Given the description of an element on the screen output the (x, y) to click on. 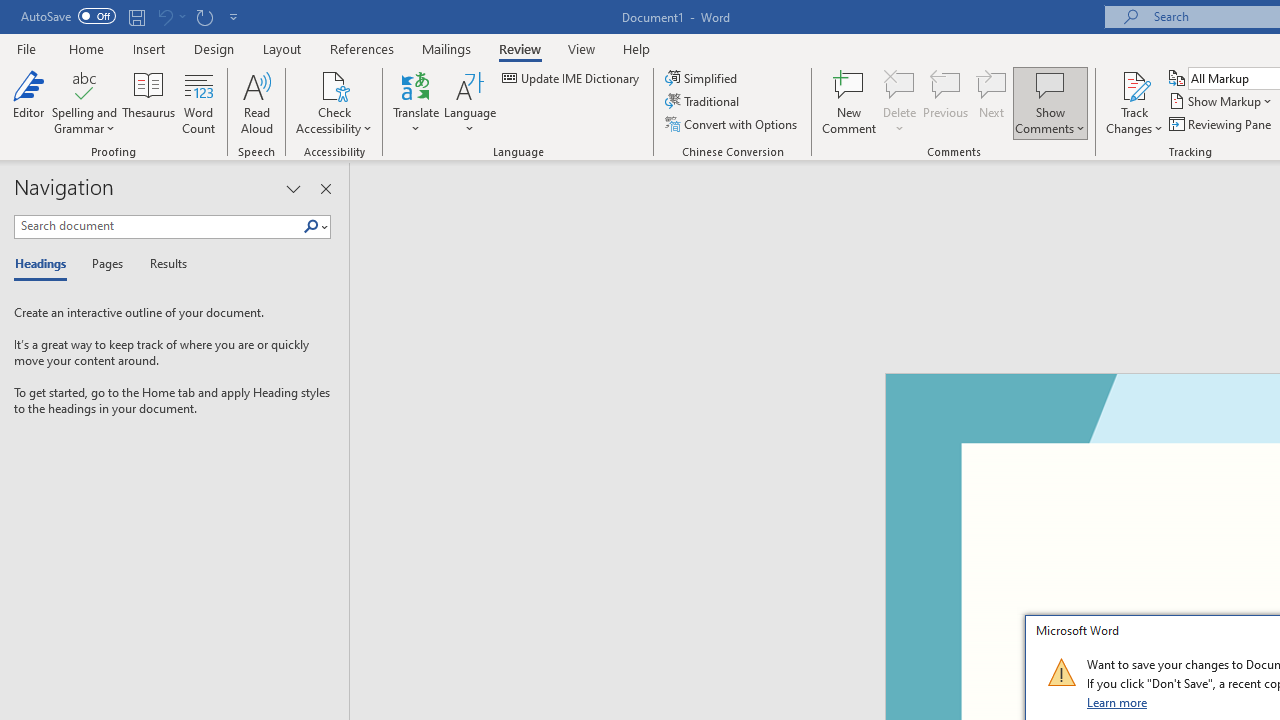
Delete (900, 84)
Previous (946, 102)
Headings (45, 264)
Close pane (325, 188)
View (582, 48)
Delete (900, 102)
Insert (149, 48)
Show Comments (1050, 84)
Thesaurus... (148, 102)
Quick Access Toolbar (131, 16)
Learn more (1118, 702)
Mailings (447, 48)
